Given the description of an element on the screen output the (x, y) to click on. 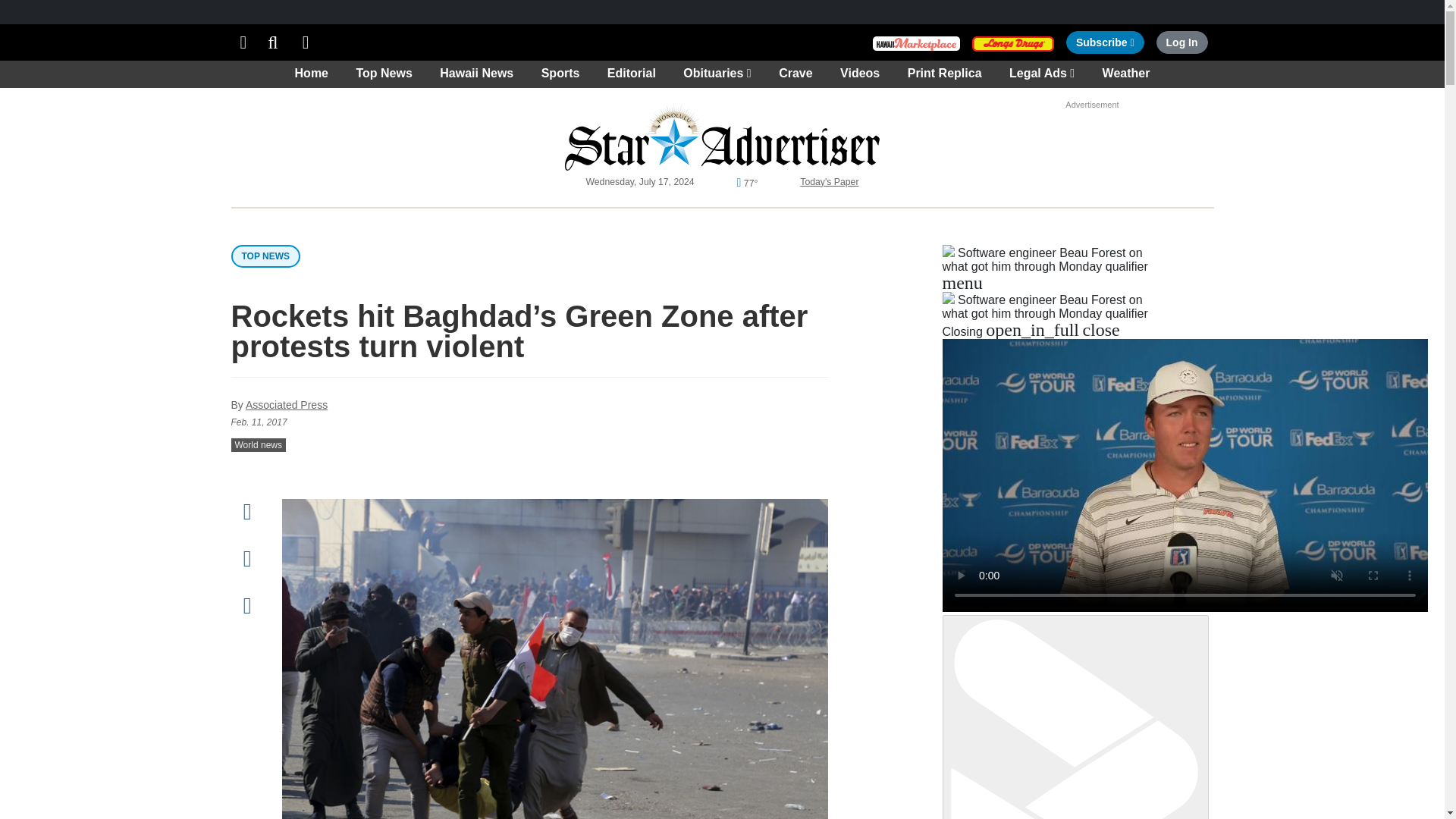
Log In (1182, 42)
Honolulu Star-Advertiser (1104, 42)
Opens in a new tab (721, 136)
Search (915, 41)
Sections (272, 42)
Opens in a new tab (243, 42)
Print Replica (1013, 41)
